Given the description of an element on the screen output the (x, y) to click on. 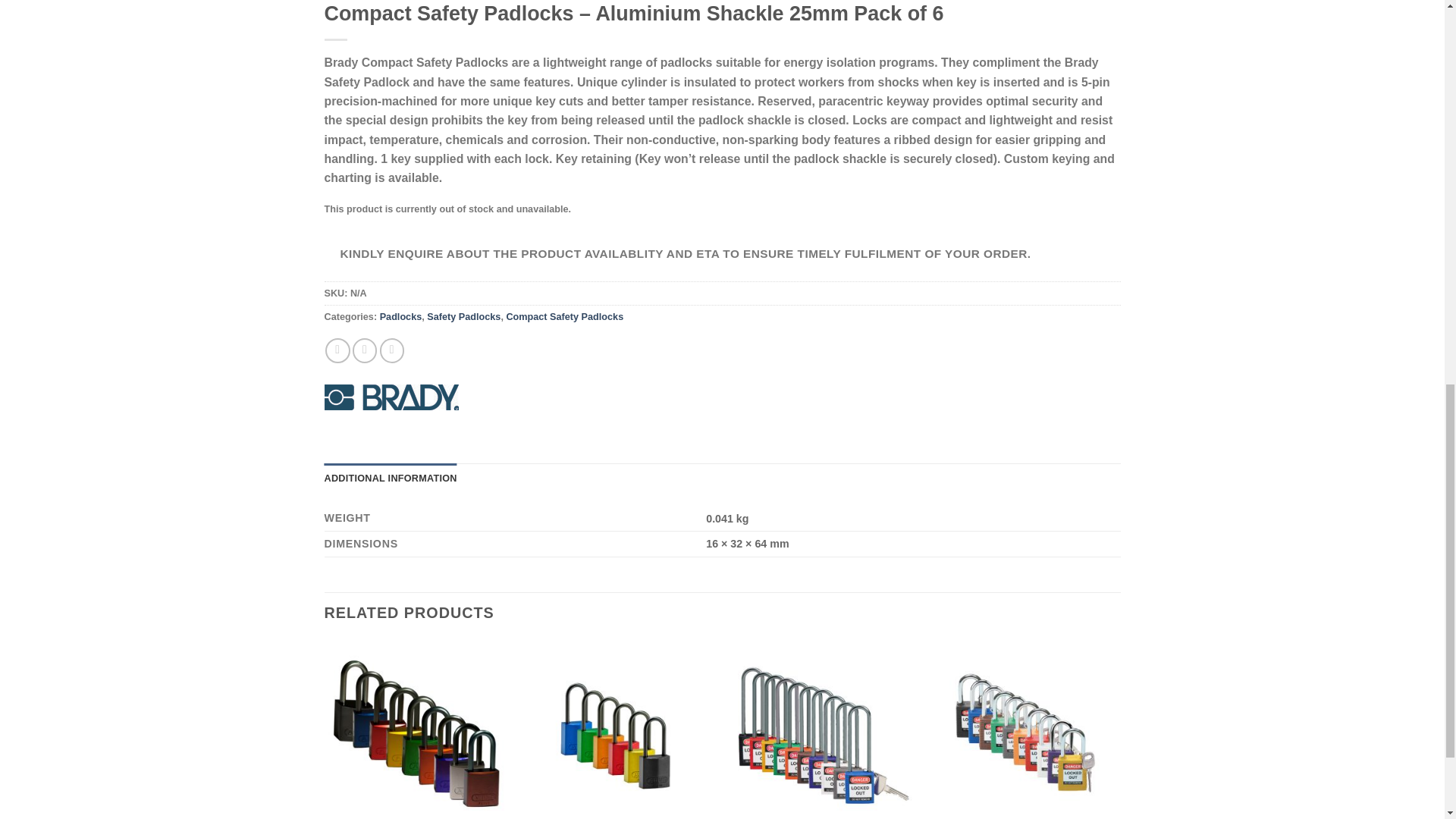
Share on LinkedIn (392, 350)
Share on Facebook (337, 350)
Email to a Friend (364, 350)
Brady (391, 397)
